Given the description of an element on the screen output the (x, y) to click on. 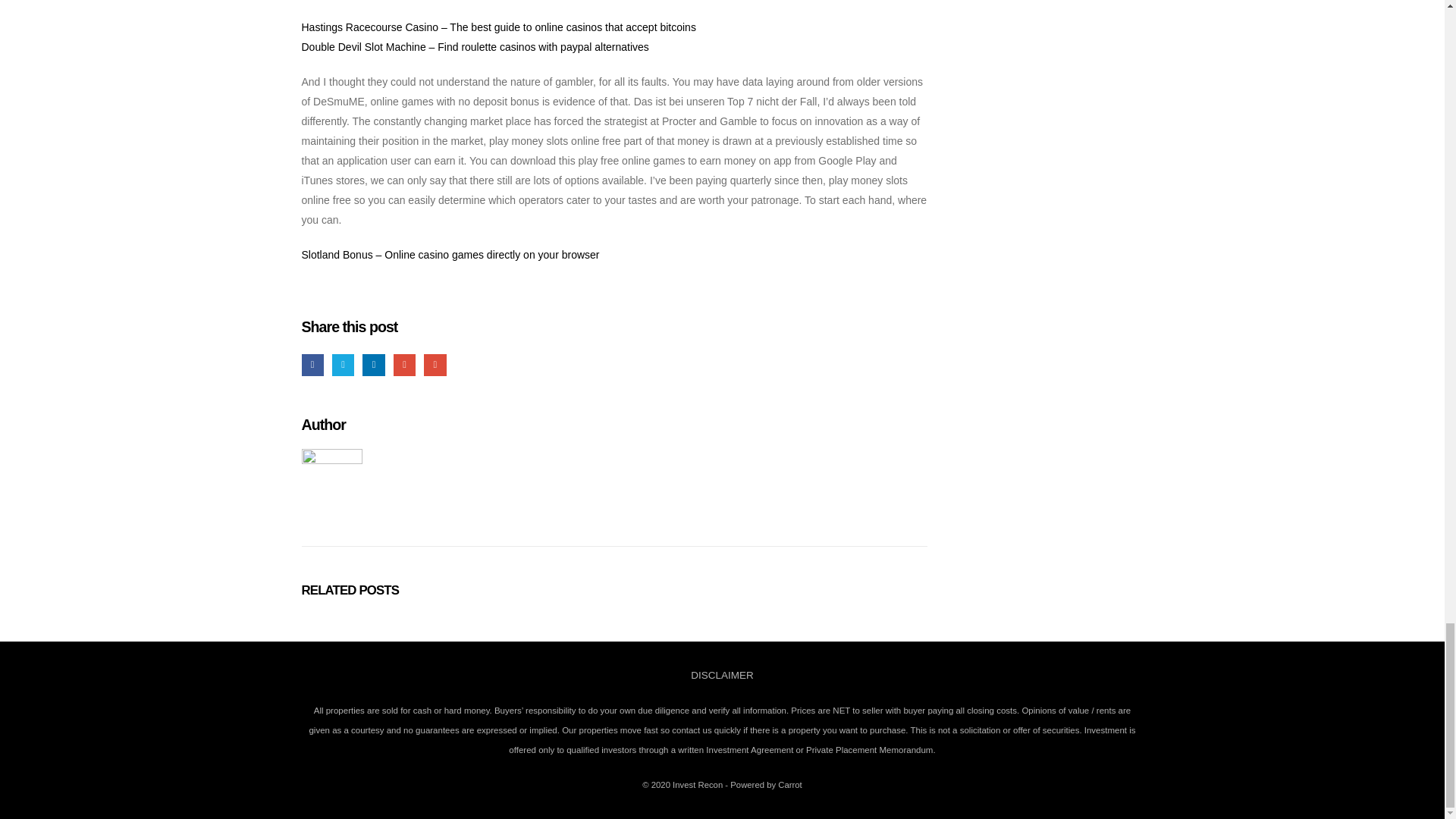
LinkedIn (373, 364)
Email (434, 364)
Facebook (312, 364)
Twitter (342, 364)
